Given the description of an element on the screen output the (x, y) to click on. 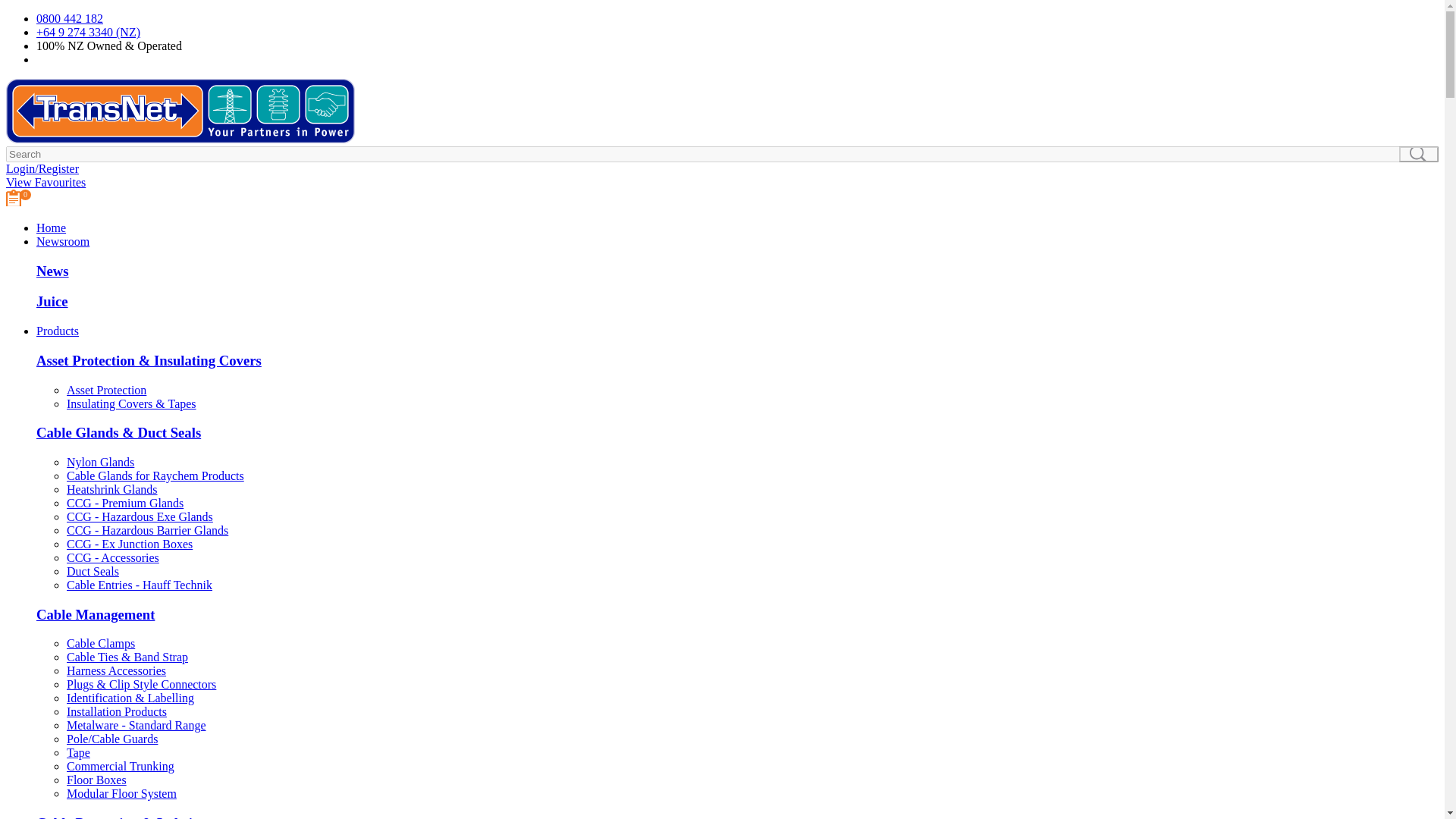
Cable Entries - Hauff Technik (139, 584)
Nylon Glands (99, 461)
Newsroom (62, 241)
Cable Management (95, 614)
CCG - Accessories (112, 557)
Duct Seals (92, 571)
Cable Clamps (100, 643)
News (52, 270)
0800 442 182 (69, 18)
View Favourites (45, 182)
CCG - Hazardous Barrier Glands (147, 530)
CCG - Premium Glands (124, 502)
Asset Protection (106, 390)
Products (57, 330)
Heatshrink Glands (111, 489)
